Given the description of an element on the screen output the (x, y) to click on. 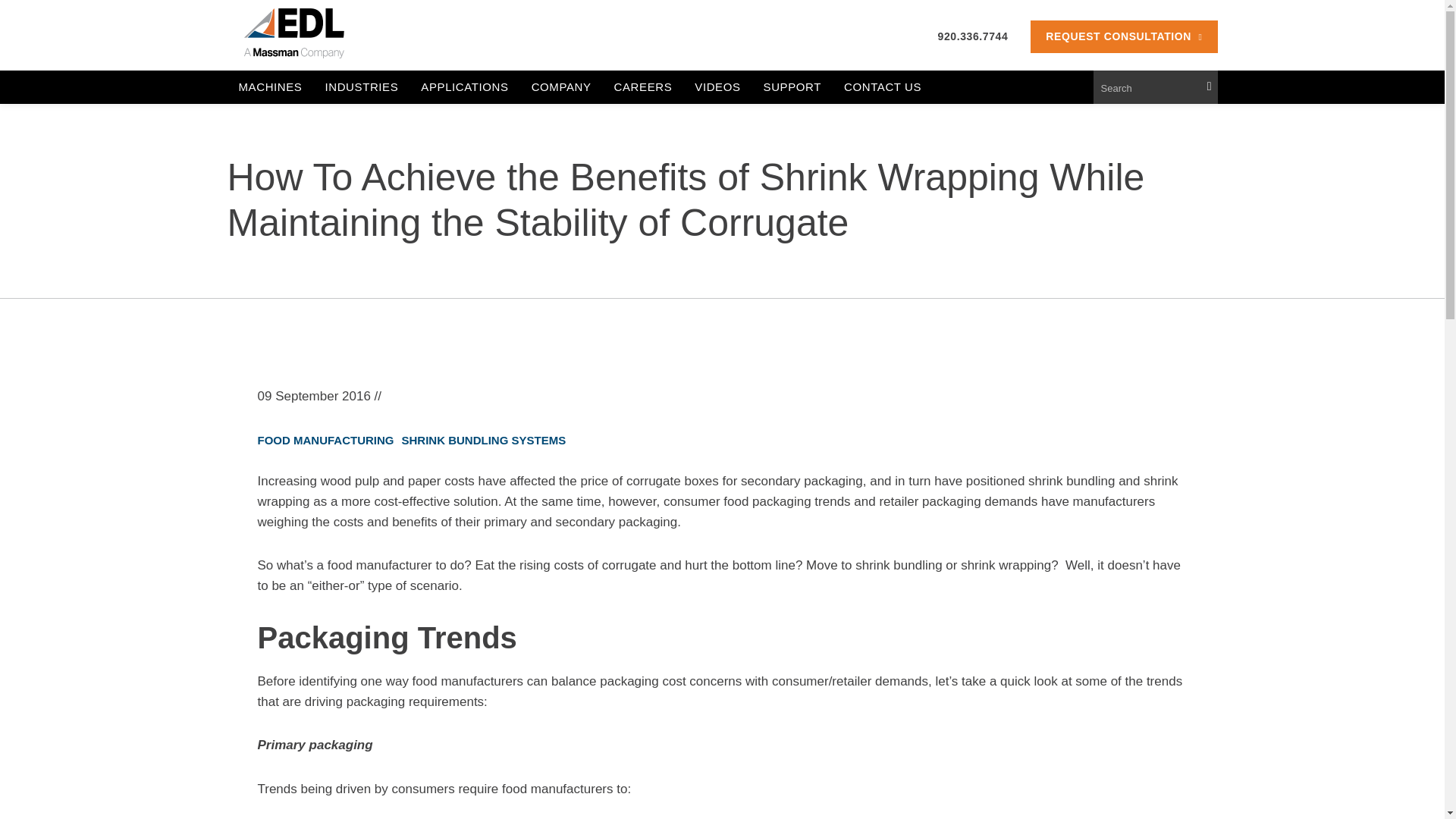
920.336.7744 (973, 36)
INDUSTRIES (361, 87)
REQUEST CONSULTATION (1123, 36)
APPLICATIONS (464, 87)
MACHINES (270, 87)
